Given the description of an element on the screen output the (x, y) to click on. 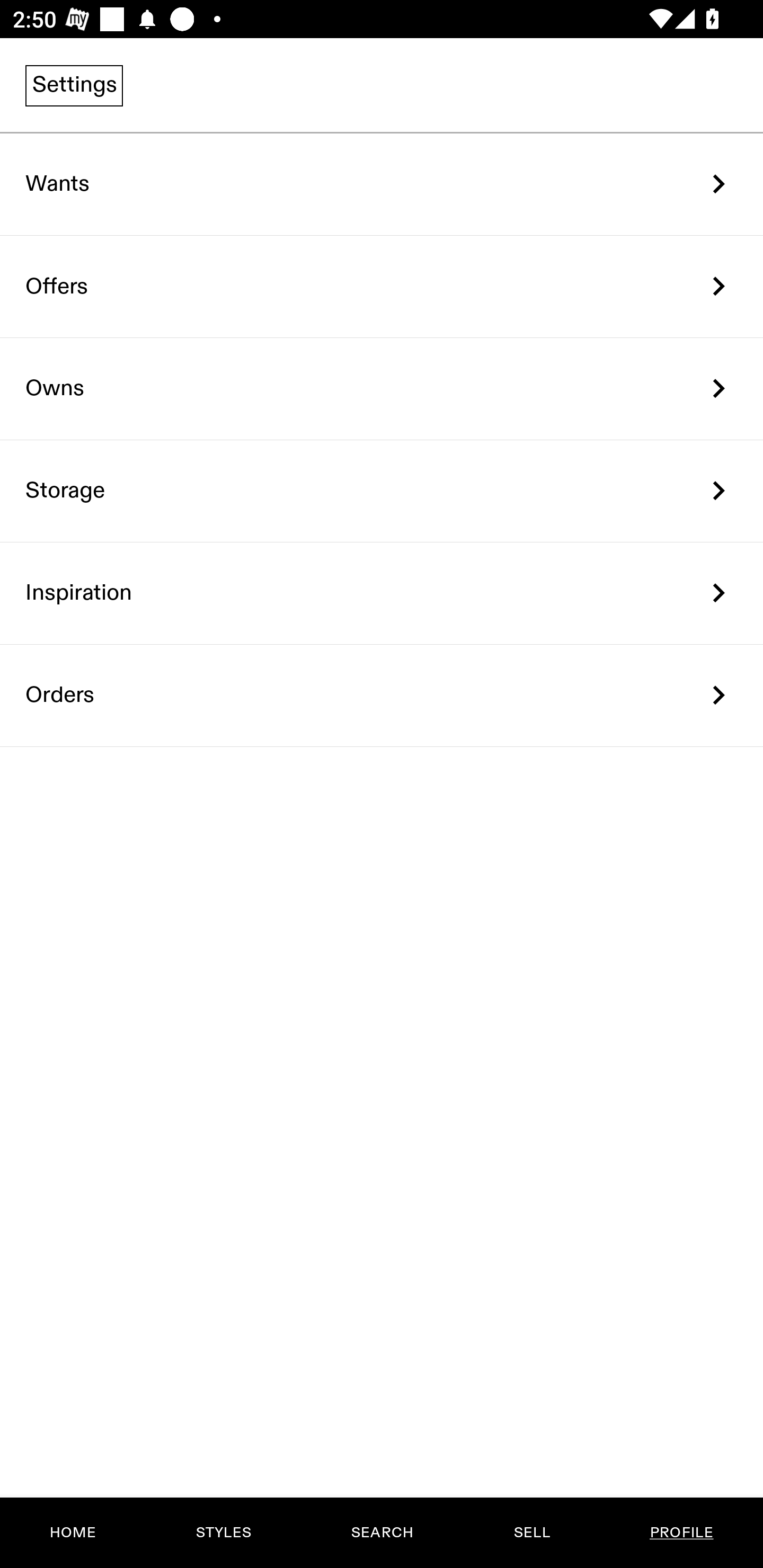
Settings (73, 85)
Wants (381, 184)
Offers (381, 286)
Owns (381, 388)
Storage (381, 491)
Inspiration (381, 593)
Orders (381, 695)
HOME (72, 1532)
STYLES (222, 1532)
SEARCH (381, 1532)
SELL (531, 1532)
PROFILE (681, 1532)
